Given the description of an element on the screen output the (x, y) to click on. 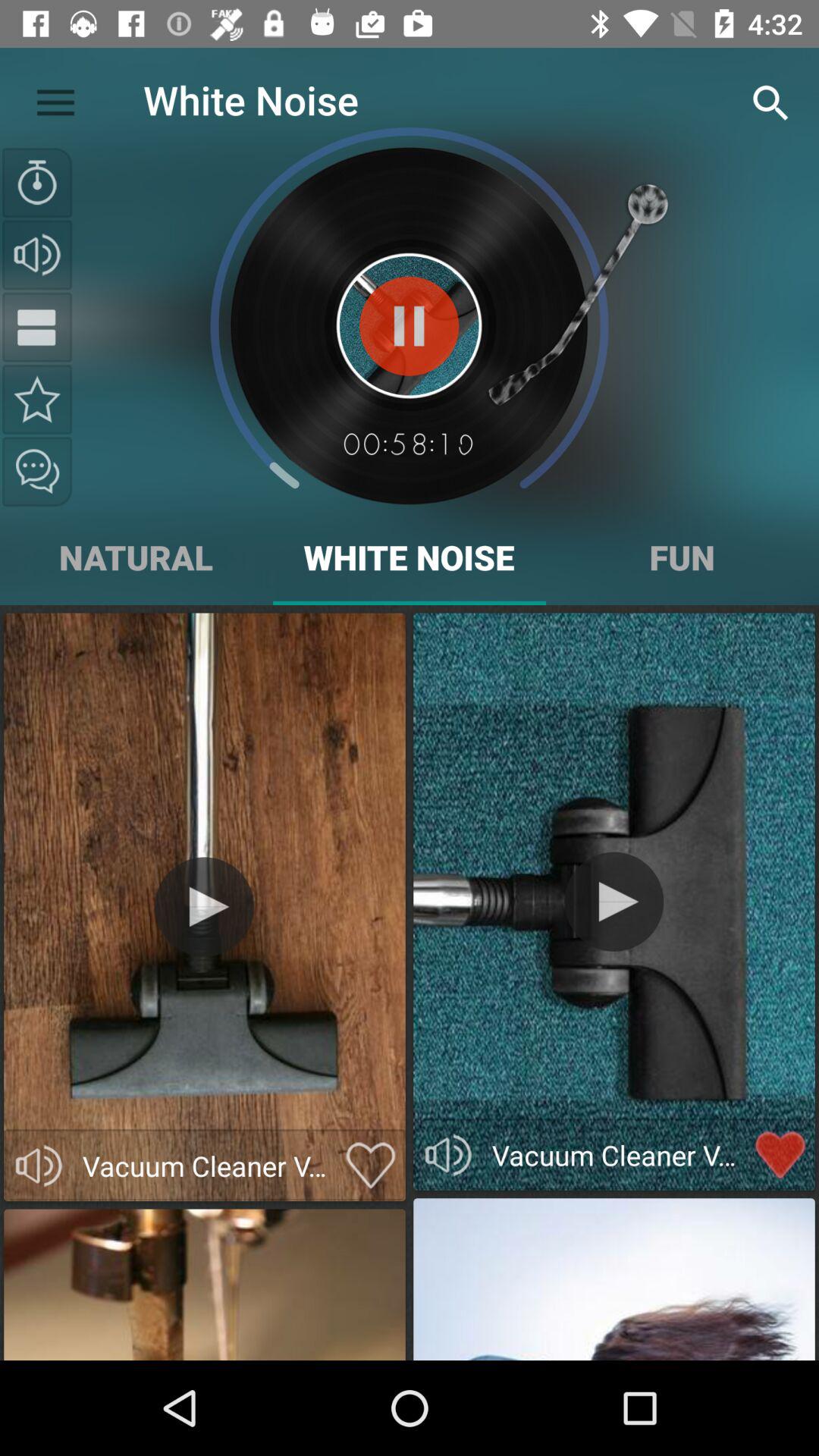
play the sound (408, 325)
